Given the description of an element on the screen output the (x, y) to click on. 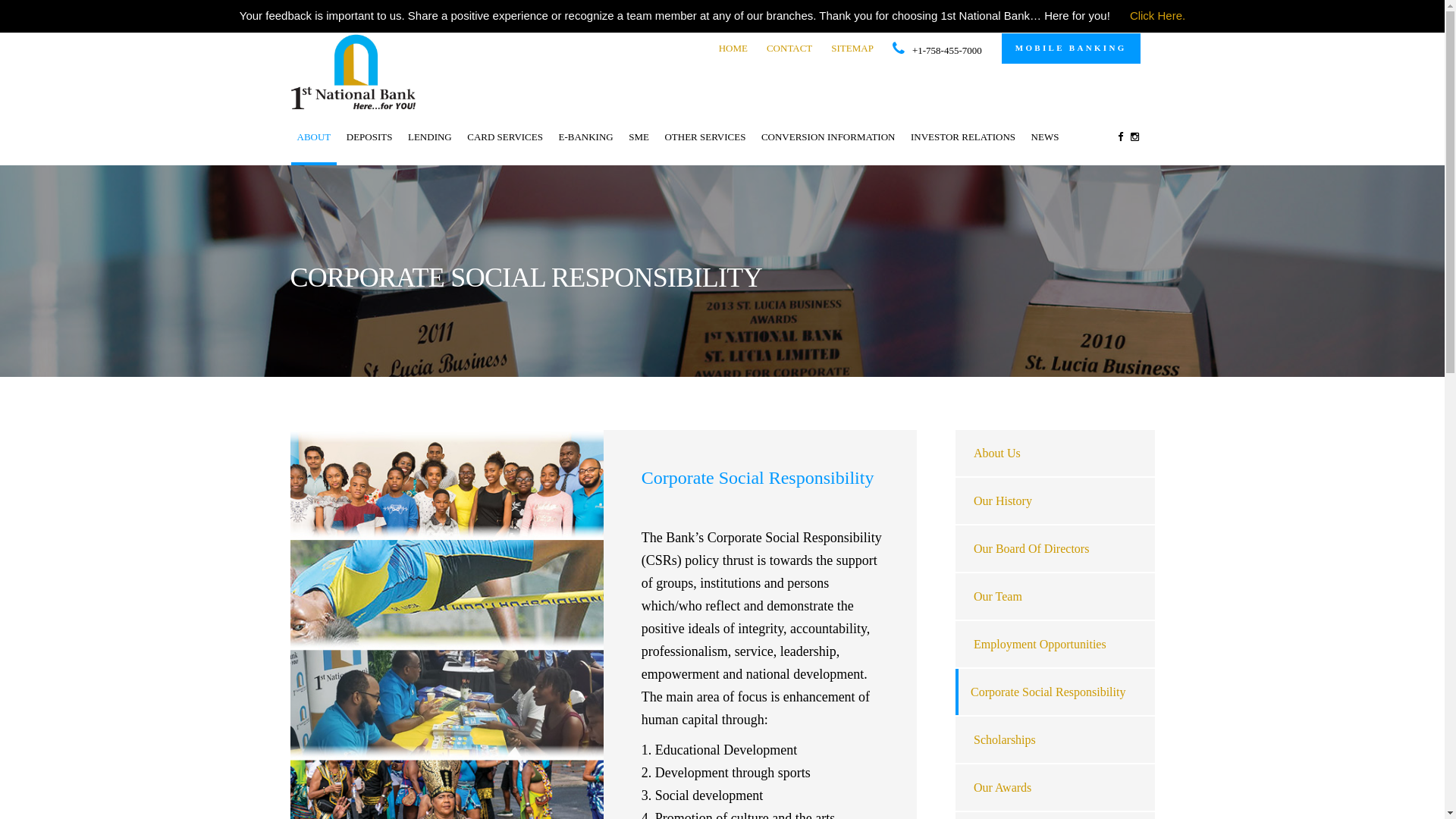
CARD SERVICES Element type: text (505, 136)
Click Here. Element type: text (1157, 16)
Corporate Social Responsibility Element type: text (1047, 691)
E-BANKING Element type: text (585, 136)
DEPOSITS Element type: text (369, 136)
MOBILE BANKING Element type: text (1070, 48)
NEWS Element type: text (1045, 136)
HOME Element type: text (732, 47)
CONVERSION INFORMATION Element type: text (828, 136)
SME Element type: text (638, 136)
SITEMAP Element type: text (852, 47)
Our History Element type: text (1002, 500)
Employment Opportunities Element type: text (1039, 643)
ABOUT Element type: text (314, 136)
INVESTOR RELATIONS Element type: text (962, 136)
CONTACT Element type: text (789, 47)
About Us Element type: text (996, 452)
LENDING Element type: text (429, 136)
Our Board Of Directors Element type: text (1030, 548)
Our Team Element type: text (997, 595)
Facebook Element type: hover (1119, 136)
Scholarships Element type: text (1004, 739)
Our Awards Element type: text (1002, 787)
Instagram Element type: hover (1134, 136)
OTHER SERVICES Element type: text (704, 136)
